Given the description of an element on the screen output the (x, y) to click on. 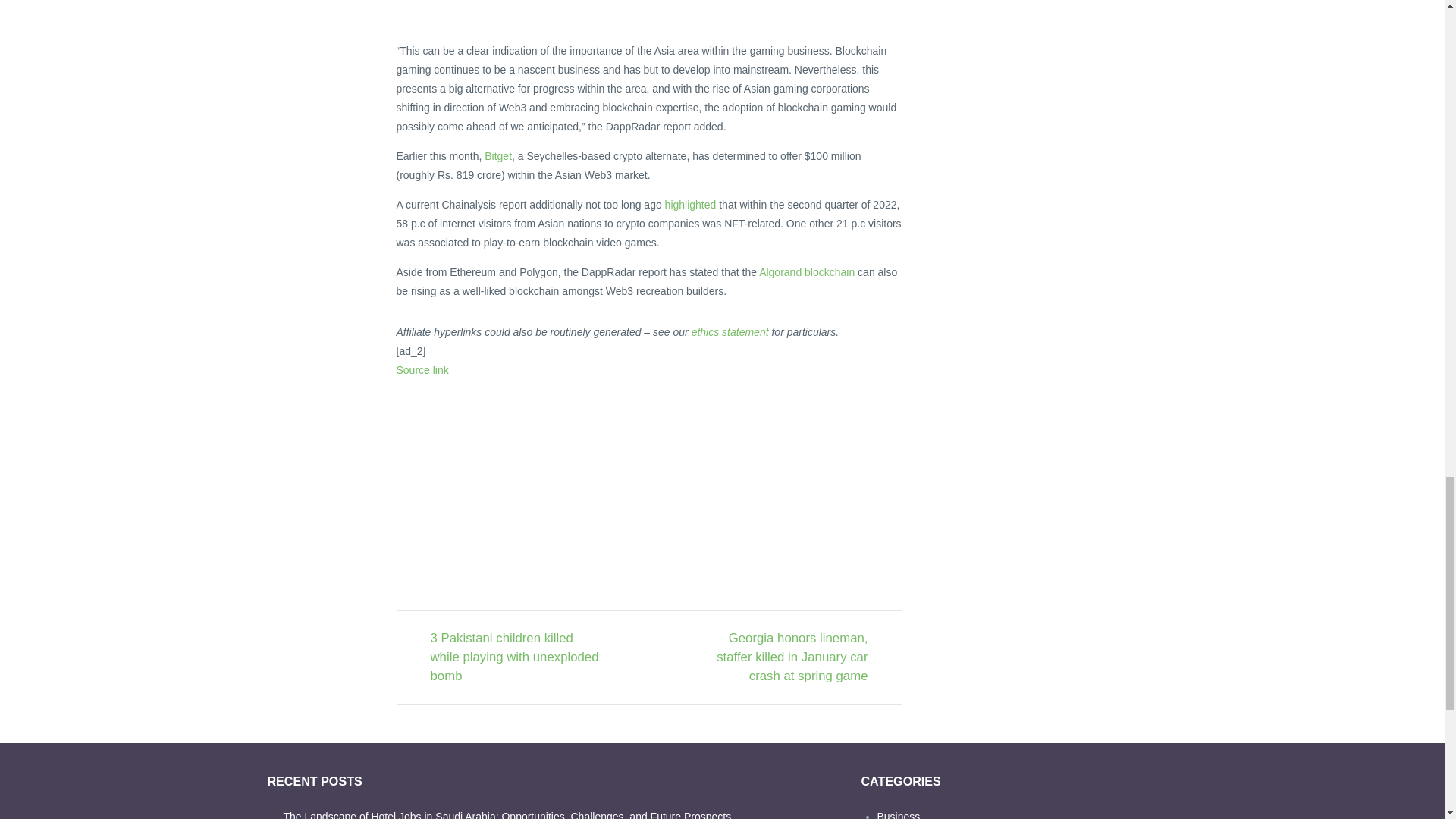
Bitget (498, 155)
Source link (422, 369)
highlighted (690, 204)
Next (780, 657)
Algorand blockchain (806, 272)
ethics statement (729, 331)
Previous (517, 657)
